Given the description of an element on the screen output the (x, y) to click on. 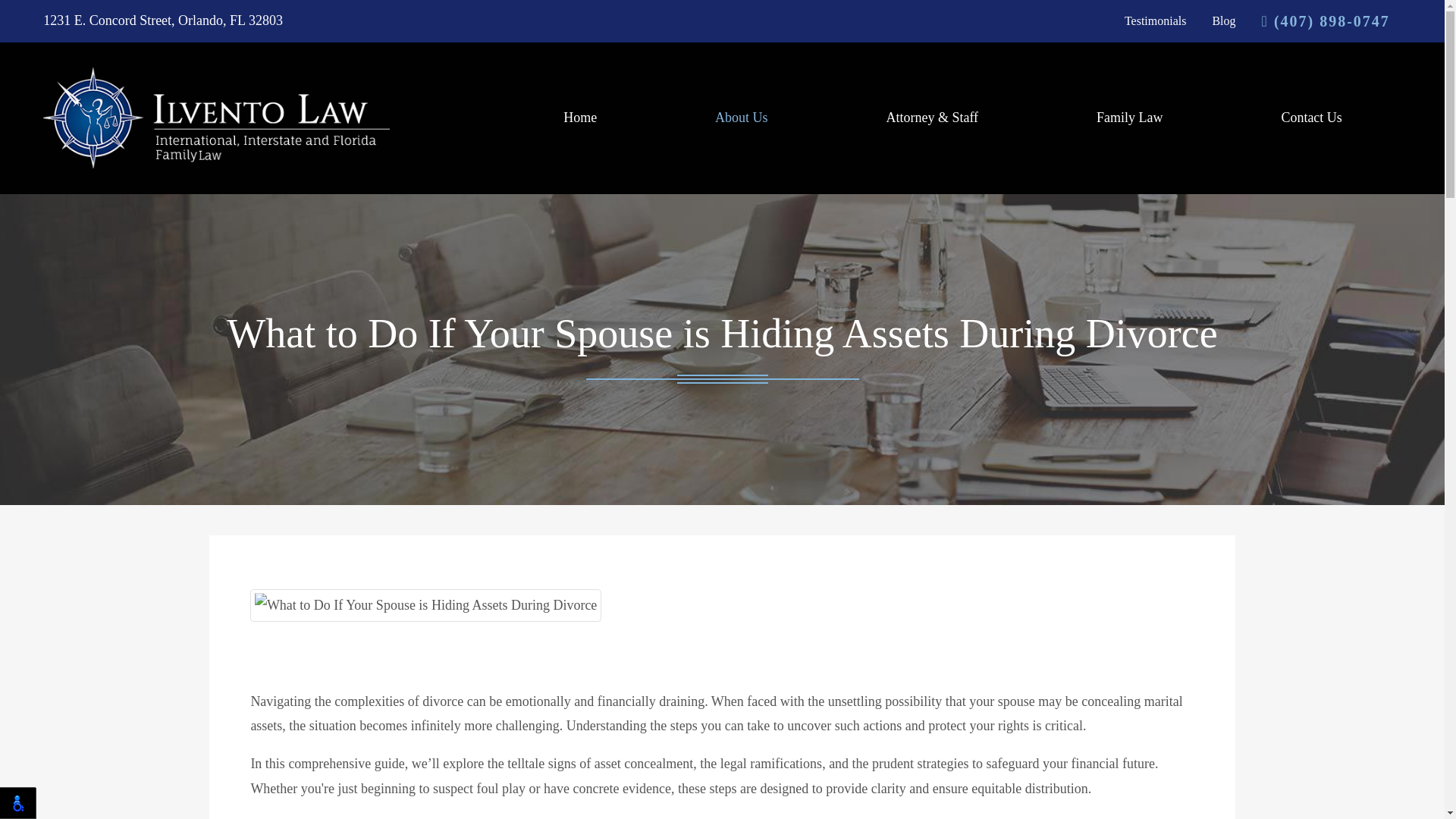
Testimonials (1155, 21)
Ilvento Law, P.A., Orlando Divorce Attorney (216, 117)
Blog (1222, 21)
About Us (741, 118)
About Us (741, 118)
Contact Us (1310, 118)
Home (579, 118)
Home (579, 118)
Contact Us (1310, 118)
Family Law (1128, 118)
